Given the description of an element on the screen output the (x, y) to click on. 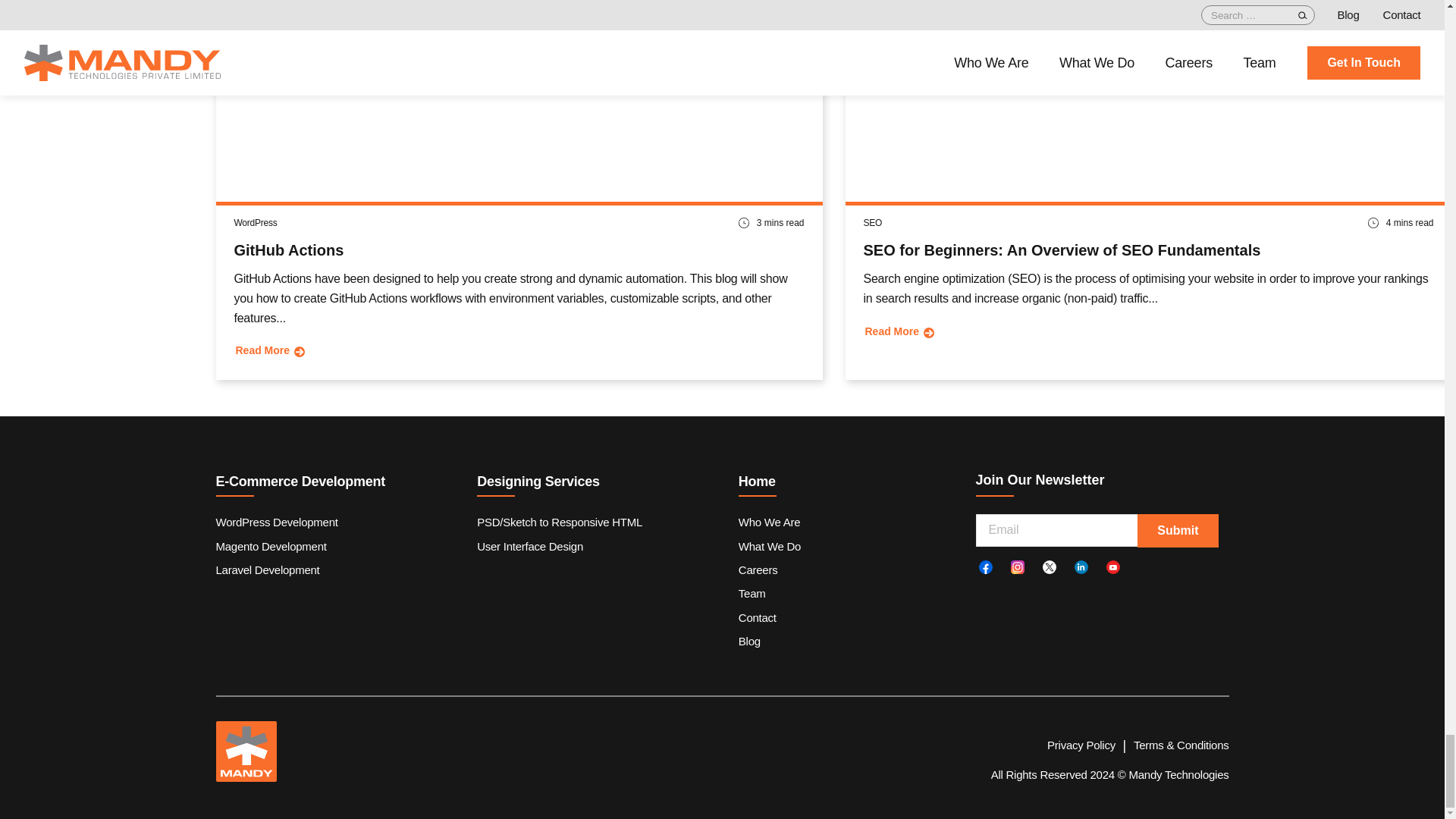
E-Commerce Development (333, 481)
User Interface Design (530, 546)
Designing Services (595, 481)
All Blog (963, 4)
Mandy Twitter (1048, 567)
Laravel Development (266, 569)
Submit (1177, 530)
Mandy YouTube (1112, 567)
Mandy Facebook (984, 567)
Mandy Facebook (984, 567)
WordPress Development (276, 521)
Who We Are (768, 521)
Team (751, 592)
Blog (749, 641)
